Given the description of an element on the screen output the (x, y) to click on. 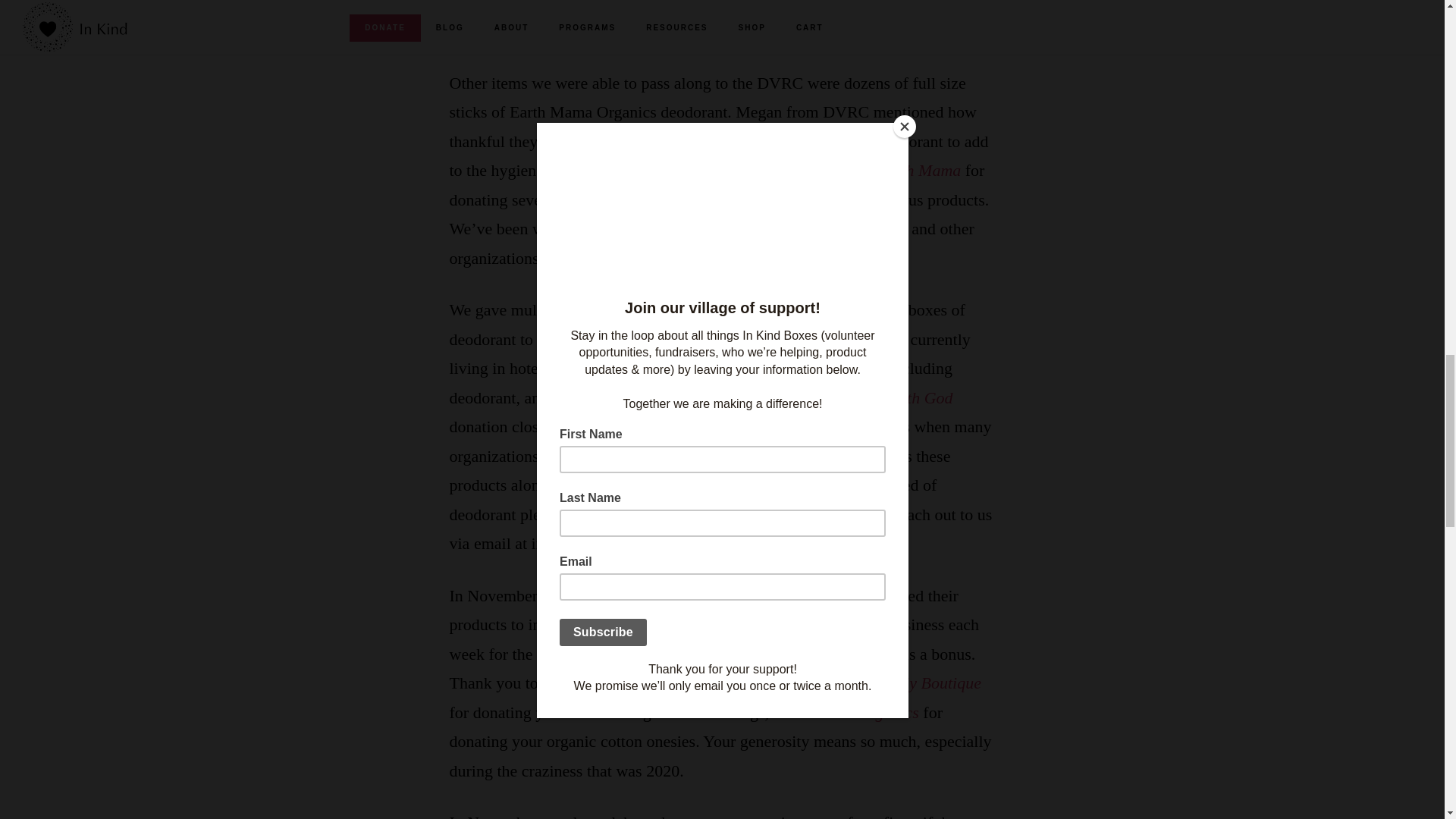
forest fires in Otis (783, 339)
Lamaze Organics (860, 711)
South Portland Young Lives (650, 367)
Bumkins Baby (589, 682)
Possible with God (890, 397)
Earth Mama (918, 169)
Hvnly Boutique (927, 682)
